Given the description of an element on the screen output the (x, y) to click on. 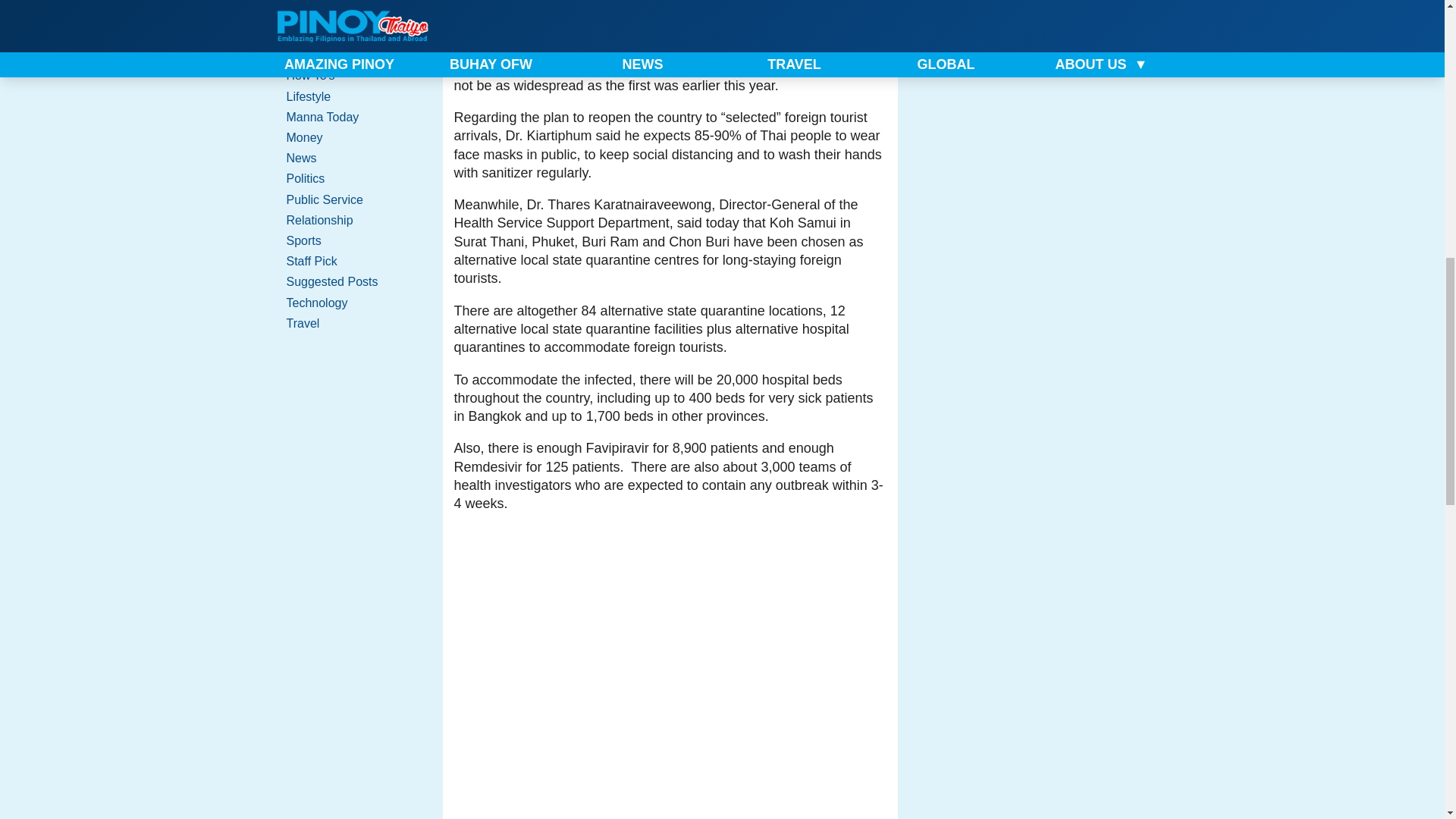
View all posts in Health (349, 55)
View all posts in Food (349, 14)
View all posts in How To's (349, 75)
View all posts in Lifestyle (349, 96)
View all posts in Global (349, 34)
View all posts in Events (349, 2)
View all posts in Manna Today (349, 117)
